Given the description of an element on the screen output the (x, y) to click on. 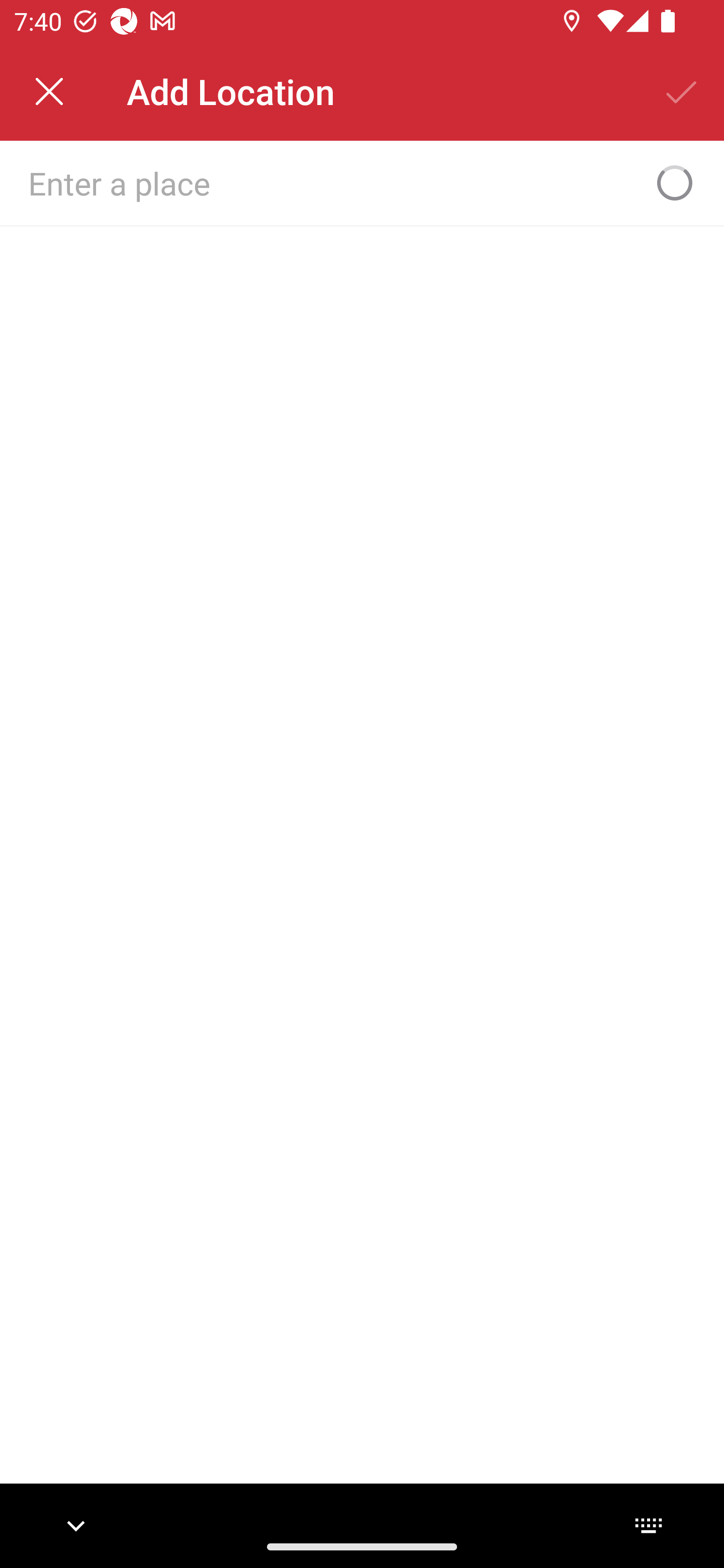
Close (49, 91)
Done (681, 91)
Enter a place (330, 182)
